Given the description of an element on the screen output the (x, y) to click on. 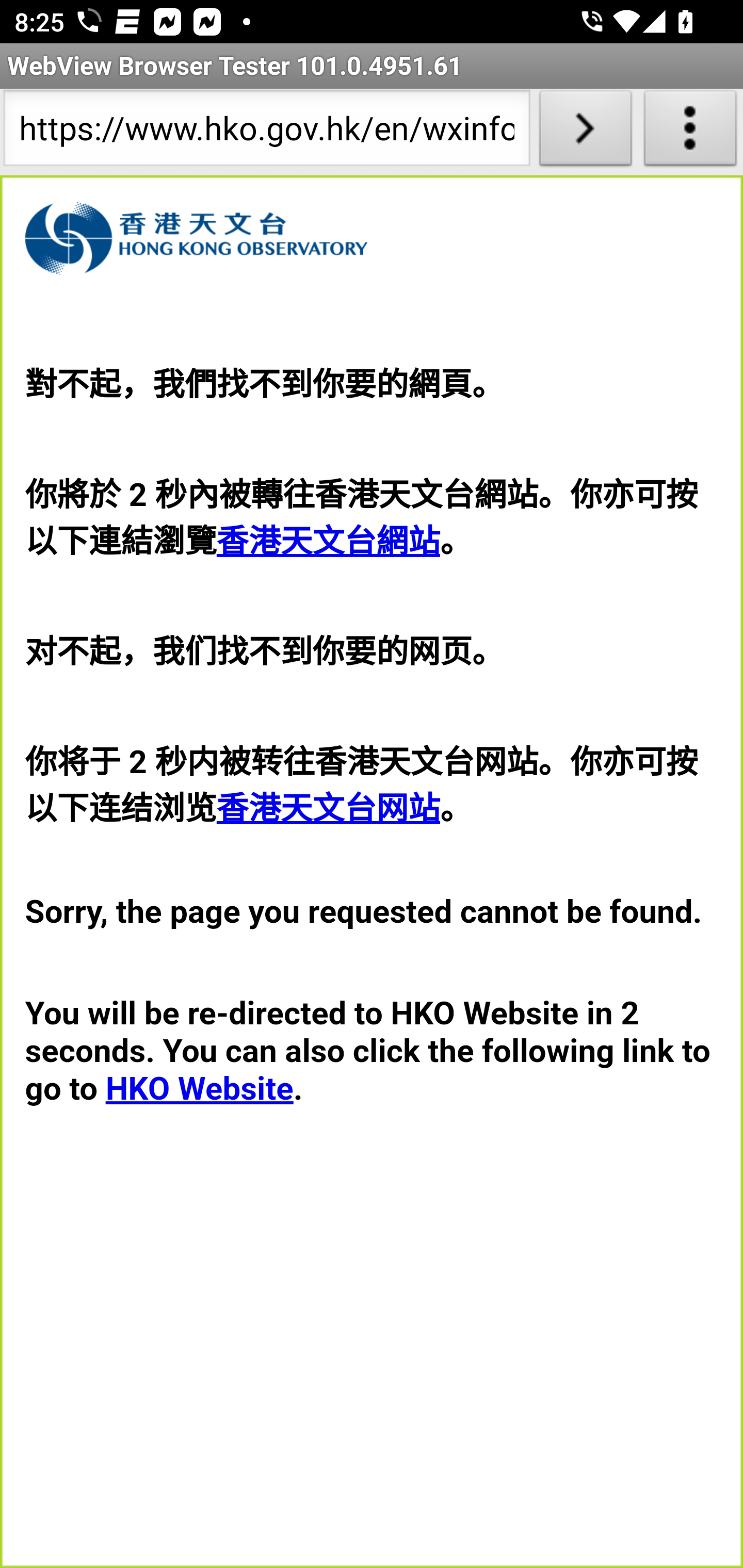
Load URL (585, 132)
About WebView (690, 132)
香港天文台網站 (327, 541)
香港天文台网站 (327, 807)
HKO Website (198, 1088)
